Given the description of an element on the screen output the (x, y) to click on. 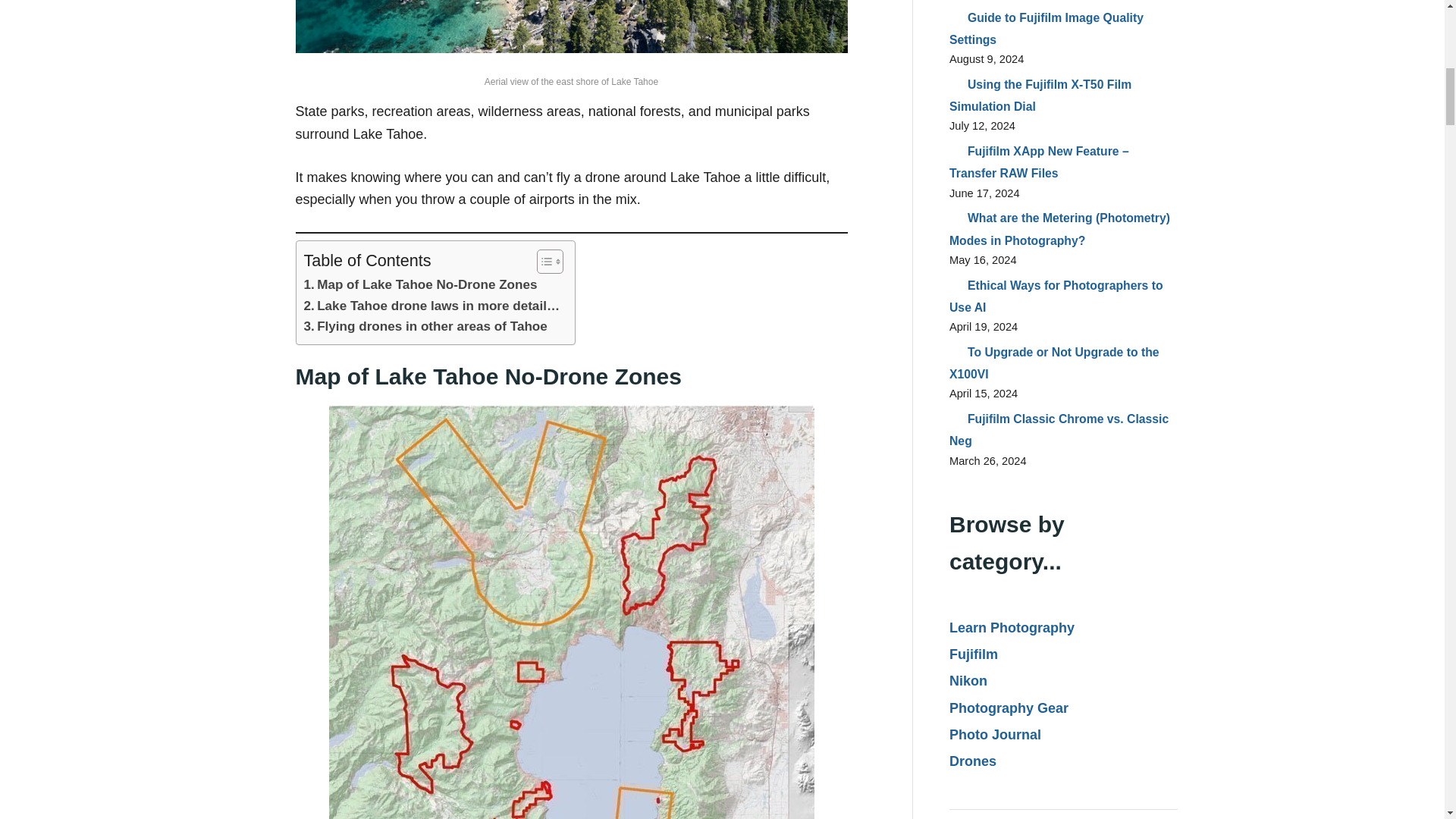
Map of Lake Tahoe No-Drone Zones (419, 284)
Map of Lake Tahoe No-Drone Zones (419, 284)
Flying drones in other areas of Tahoe (424, 326)
Flying drones in other areas of Tahoe (424, 326)
